Given the description of an element on the screen output the (x, y) to click on. 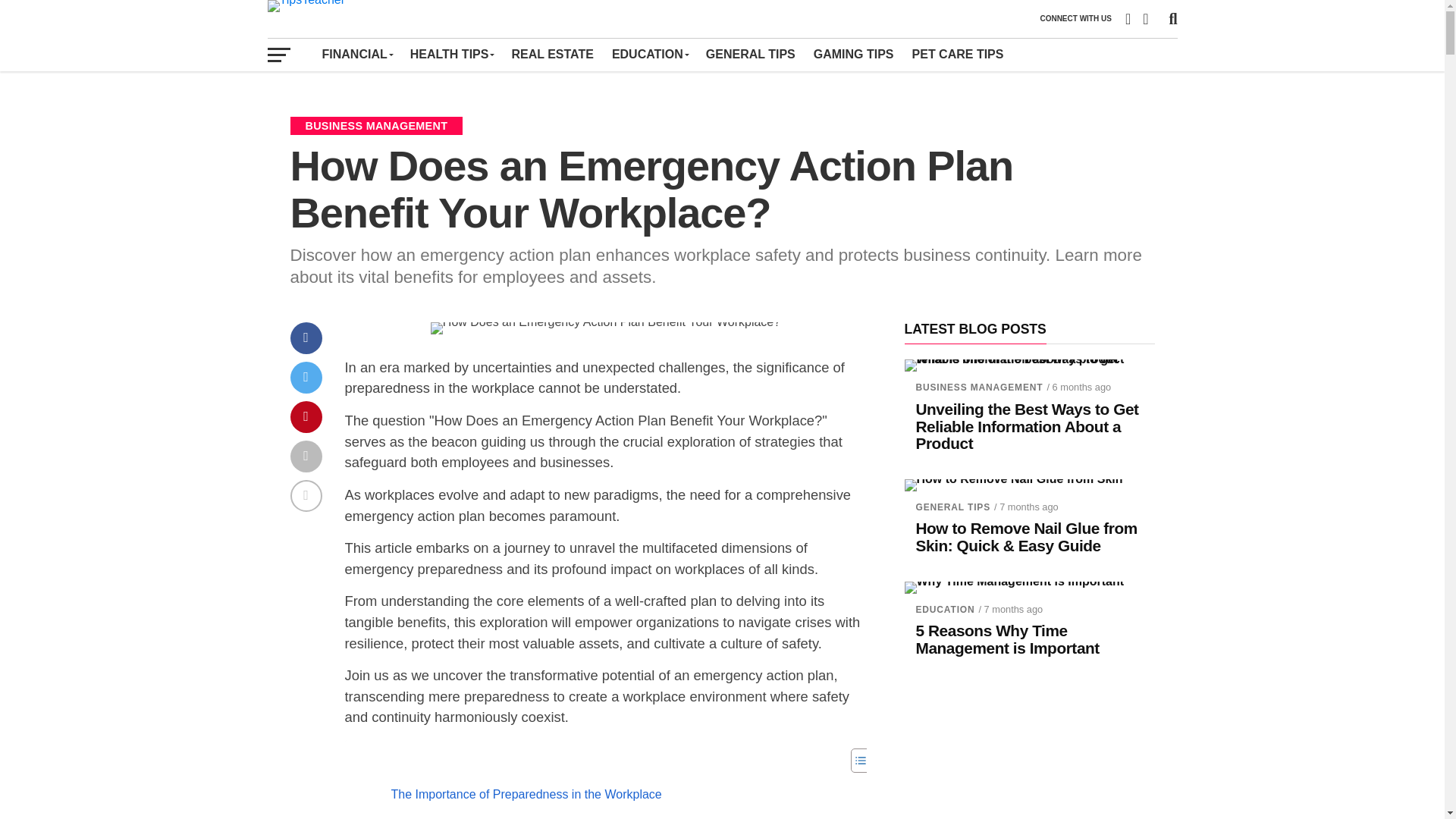
GENERAL TIPS (751, 54)
Recognizing the Need for Emergency Preparedness (587, 817)
FINANCIAL (356, 54)
PET CARE TIPS (957, 54)
REAL ESTATE (552, 54)
HEALTH TIPS (451, 54)
Recognizing the Need for Emergency Preparedness (587, 817)
How Does an Emergency Action Plan Benefit Your Workplace? 1 (605, 328)
GAMING TIPS (853, 54)
